Given the description of an element on the screen output the (x, y) to click on. 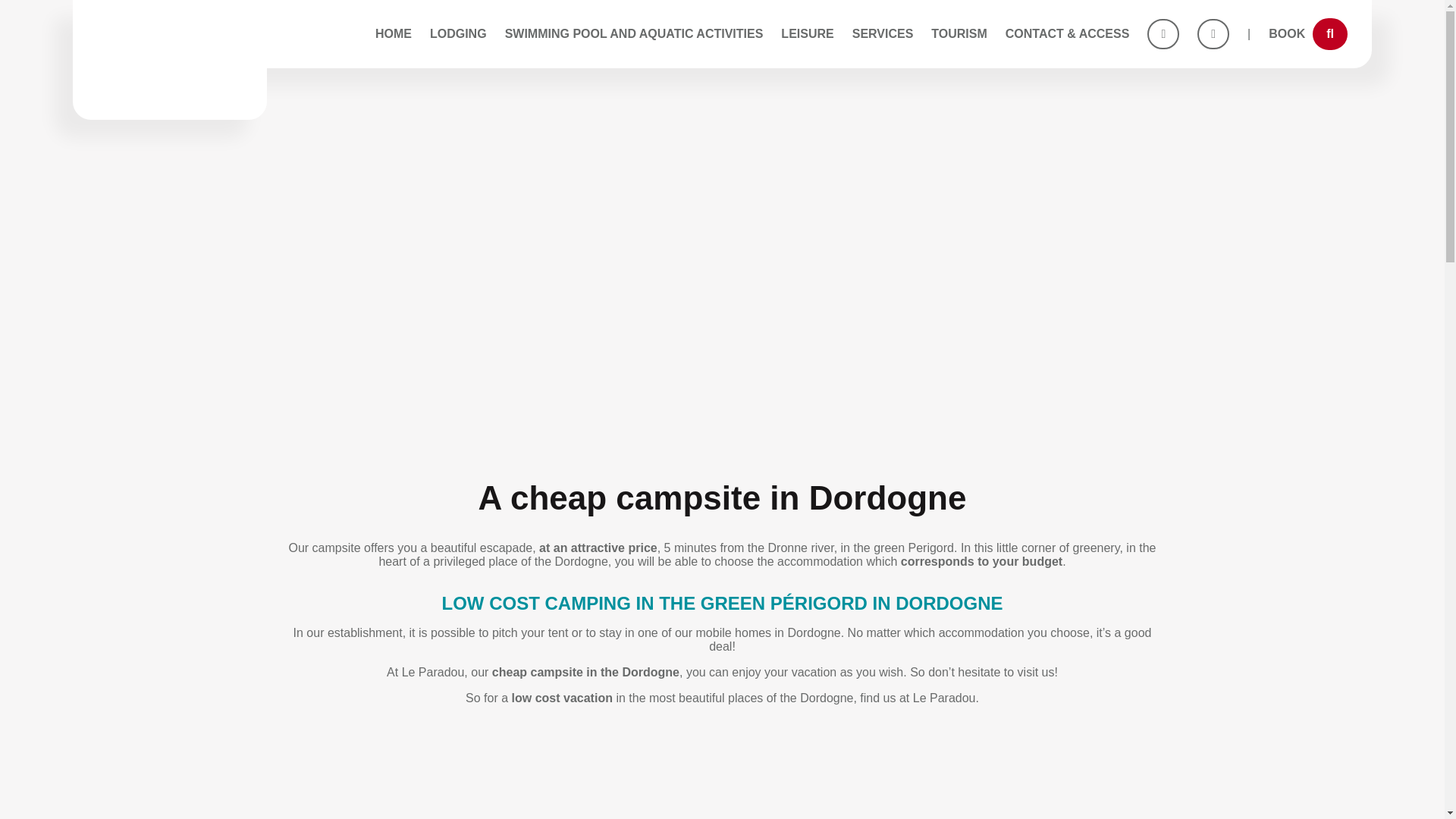
BOOK (1308, 33)
LODGING (457, 33)
SERVICES (882, 33)
LEISURE (806, 33)
SWIMMING POOL AND AQUATIC ACTIVITIES (633, 33)
HOME (393, 33)
TOURISM (959, 33)
